Given the description of an element on the screen output the (x, y) to click on. 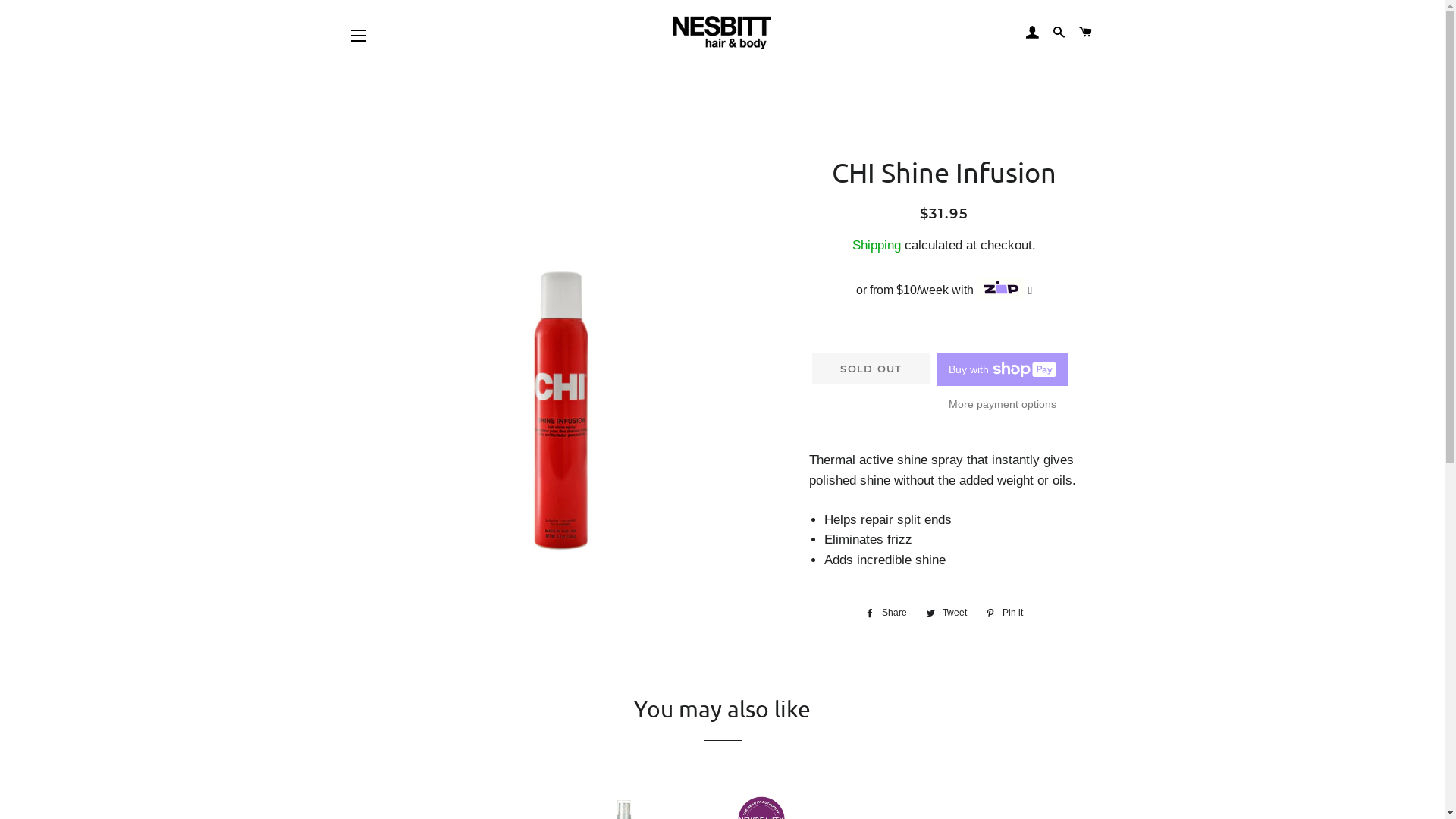
More payment options Element type: text (1002, 403)
LOG IN Element type: text (1032, 32)
Shipping Element type: text (876, 245)
CART Element type: text (1085, 32)
Pin it
Pin on Pinterest Element type: text (1004, 612)
Tweet
Tweet on Twitter Element type: text (946, 612)
SEARCH Element type: text (1059, 32)
Share
Share on Facebook Element type: text (885, 612)
SOLD OUT Element type: text (870, 367)
SITE NAVIGATION Element type: text (358, 35)
